Given the description of an element on the screen output the (x, y) to click on. 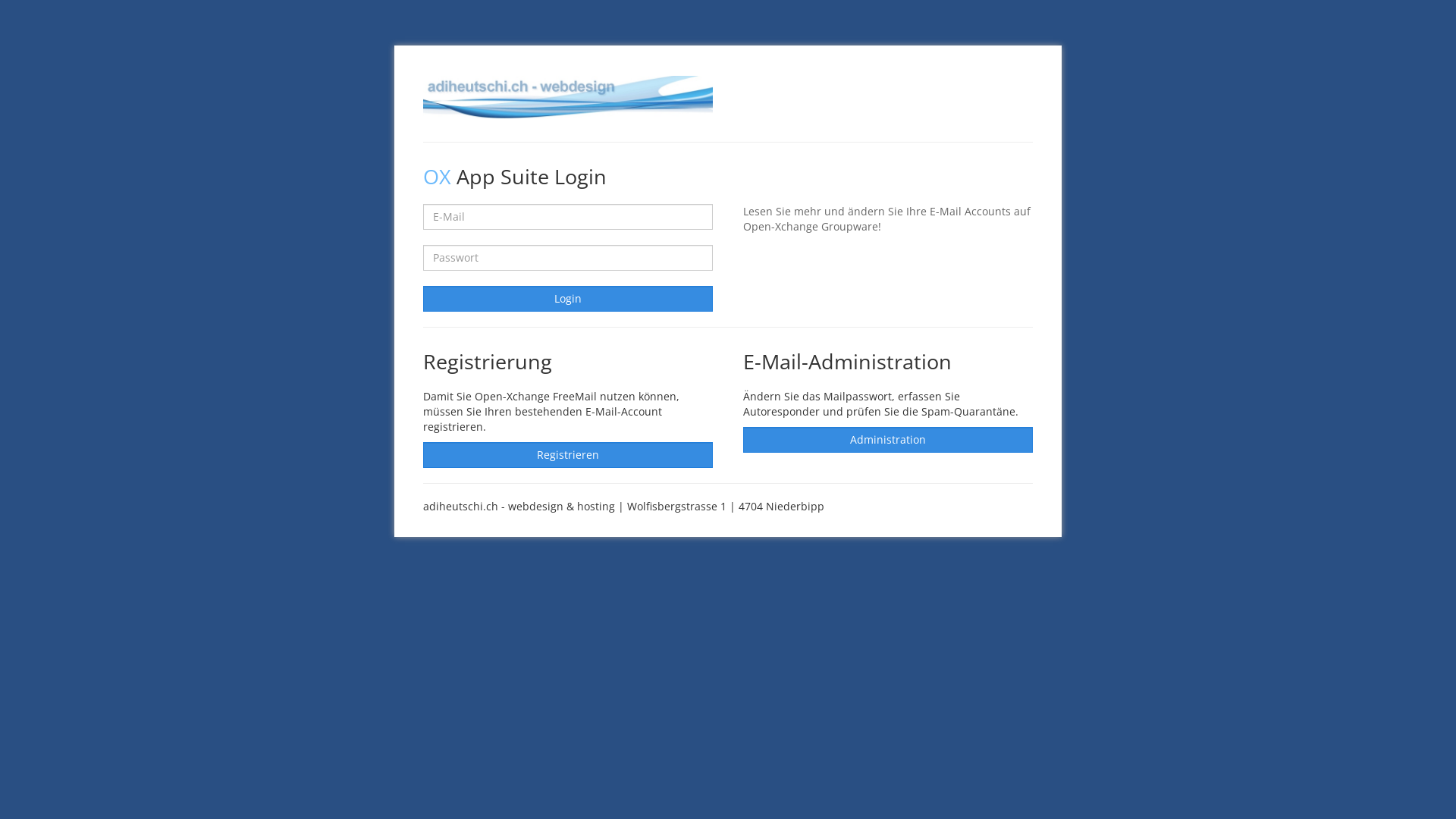
Registrieren Element type: text (567, 454)
Administration Element type: text (887, 439)
